Given the description of an element on the screen output the (x, y) to click on. 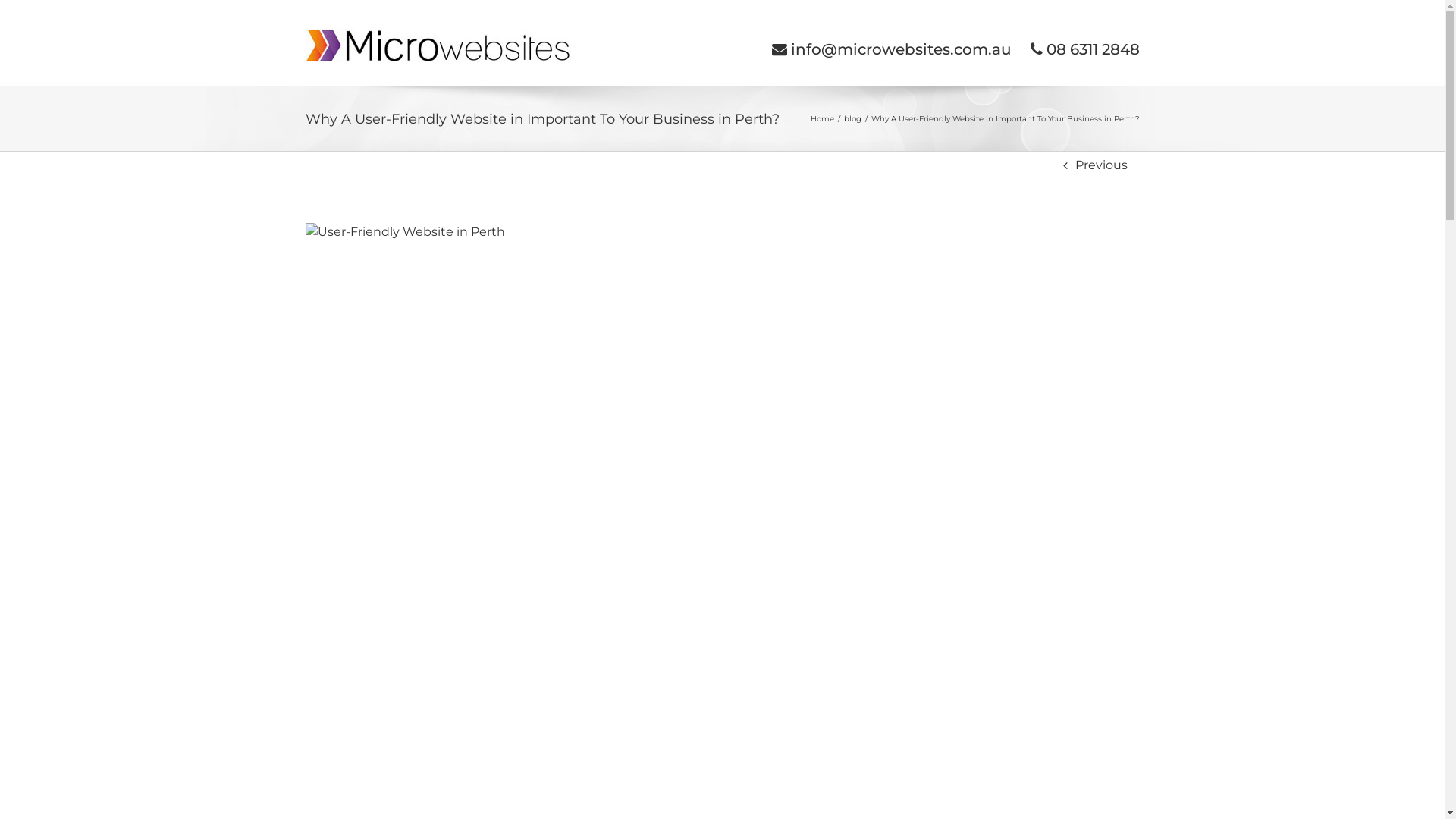
info@microwebsites.com.au Element type: text (891, 49)
Home Element type: text (821, 118)
08 6311 2848 Element type: text (1084, 49)
blog Element type: text (851, 118)
Previous Element type: text (1101, 165)
